Given the description of an element on the screen output the (x, y) to click on. 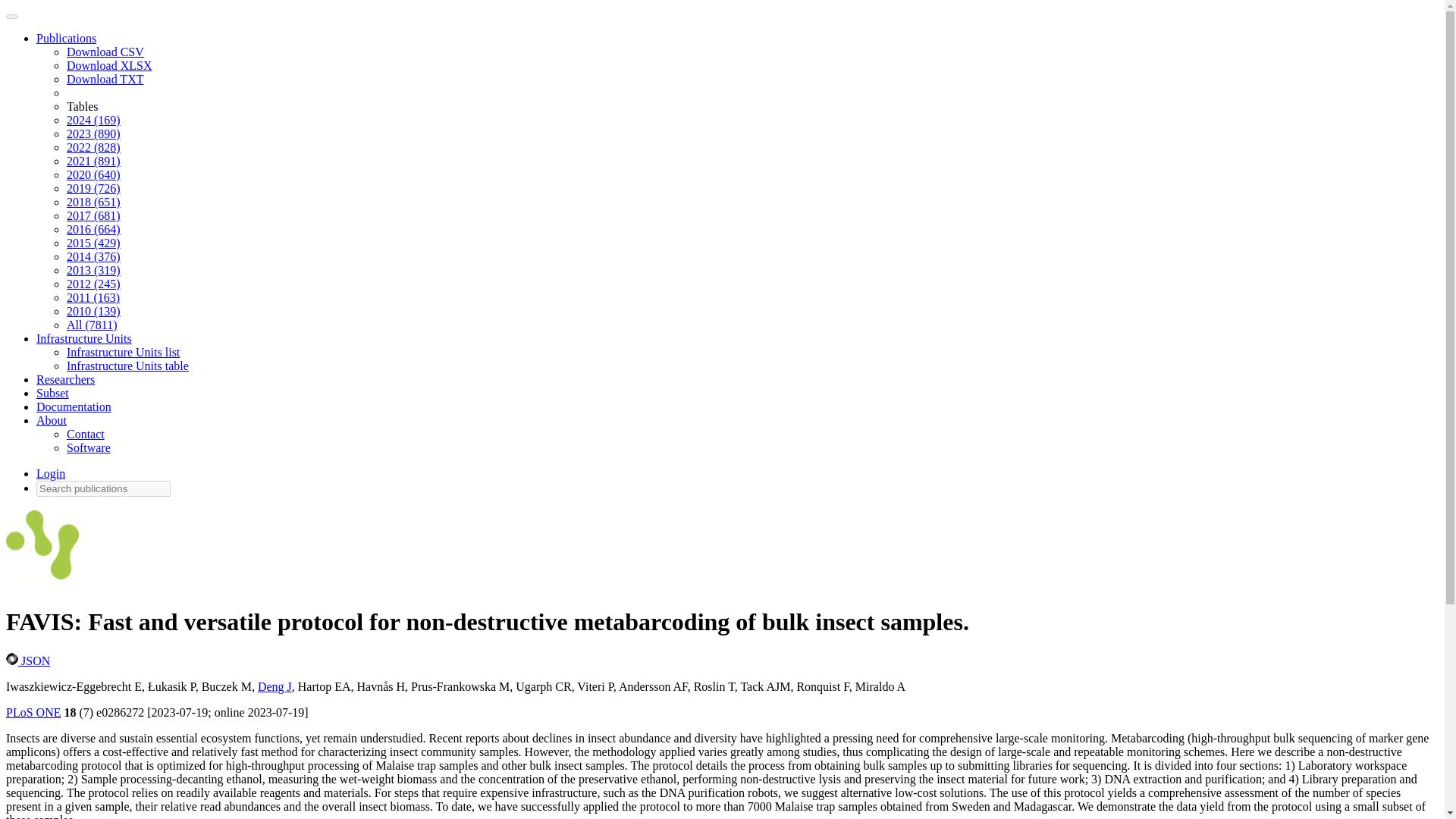
Researchers (65, 379)
Download XLSX (108, 65)
PLoS ONE (33, 712)
Infrastructure Units (84, 338)
Download TXT (104, 78)
Login (50, 472)
Documentation (74, 406)
Software (88, 447)
Publications (66, 38)
JSON (27, 660)
Deng J (274, 686)
Subset (52, 392)
Infrastructure Units list (122, 351)
Infrastructure Units table (127, 365)
Contact (85, 433)
